Given the description of an element on the screen output the (x, y) to click on. 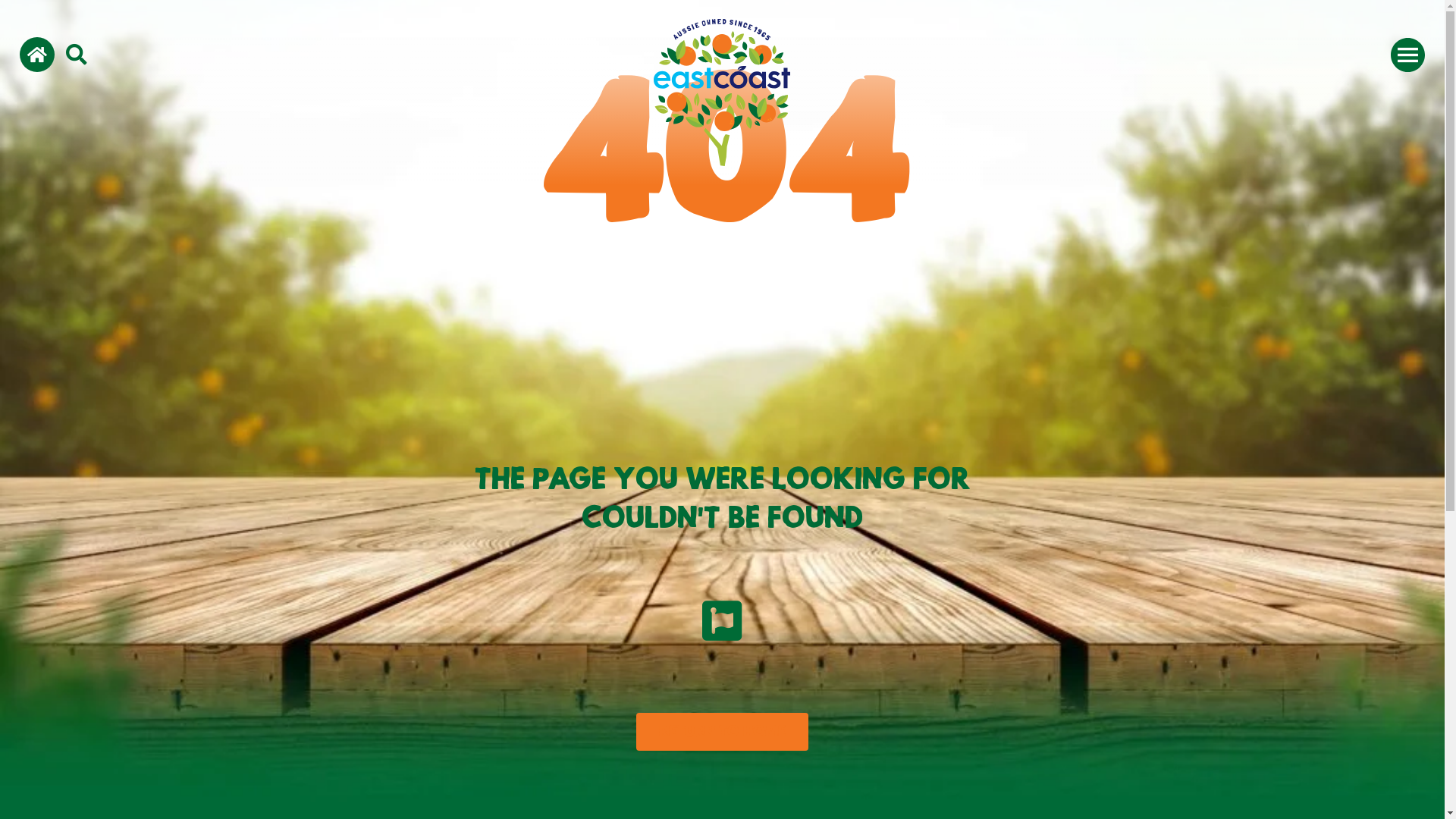
Return to home Element type: text (722, 731)
